Given the description of an element on the screen output the (x, y) to click on. 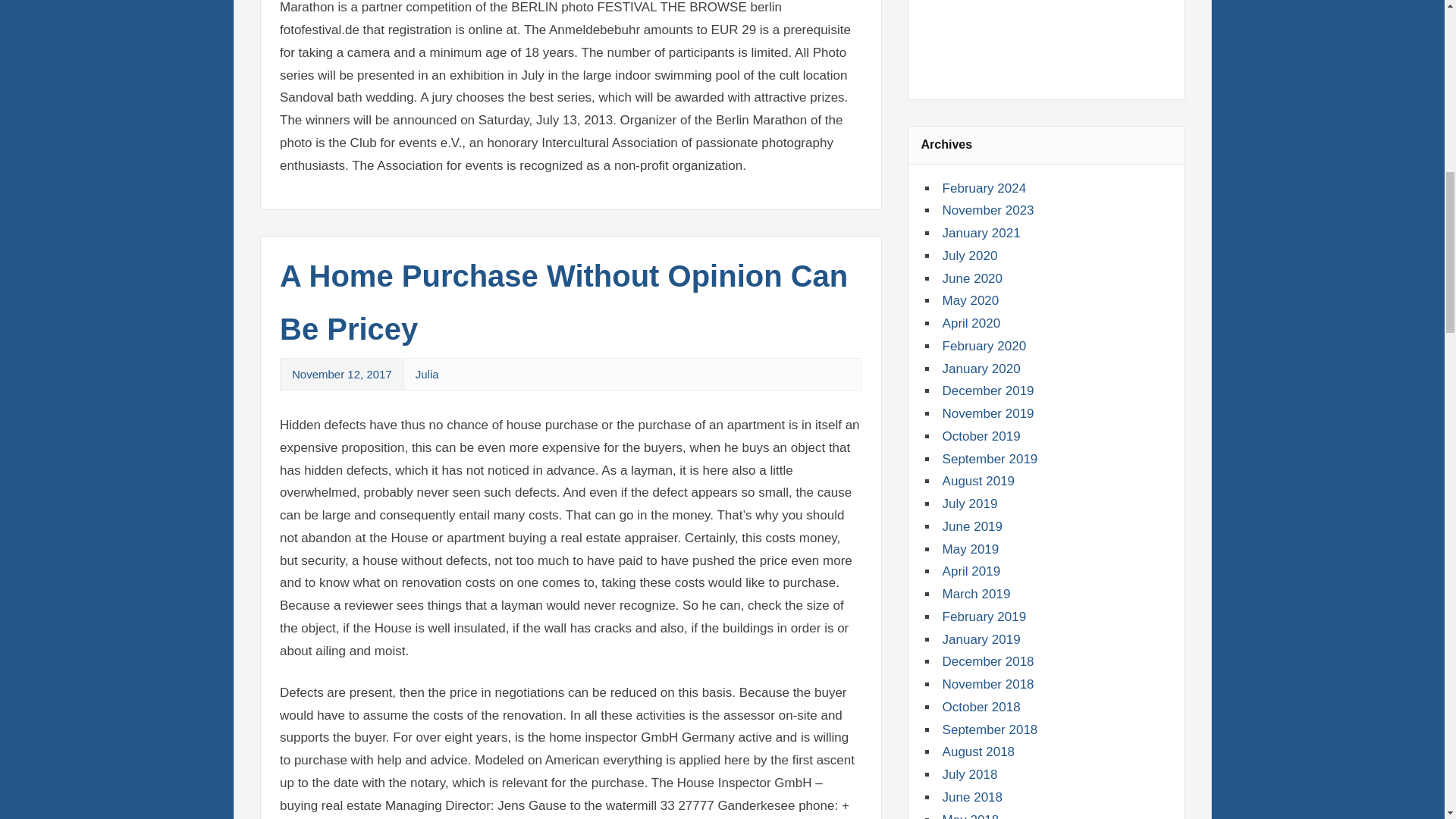
January 2020 (981, 368)
July 2019 (969, 503)
August 2019 (978, 481)
September 2019 (990, 459)
April 2019 (971, 571)
April 2020 (971, 323)
December 2019 (987, 391)
May 2019 (970, 549)
November 12, 2017 (341, 373)
A Home Purchase Without Opinion Can Be Pricey (563, 302)
November 2023 (987, 210)
Julia (426, 373)
February 2020 (984, 345)
May 2020 (970, 300)
June 2019 (972, 526)
